Given the description of an element on the screen output the (x, y) to click on. 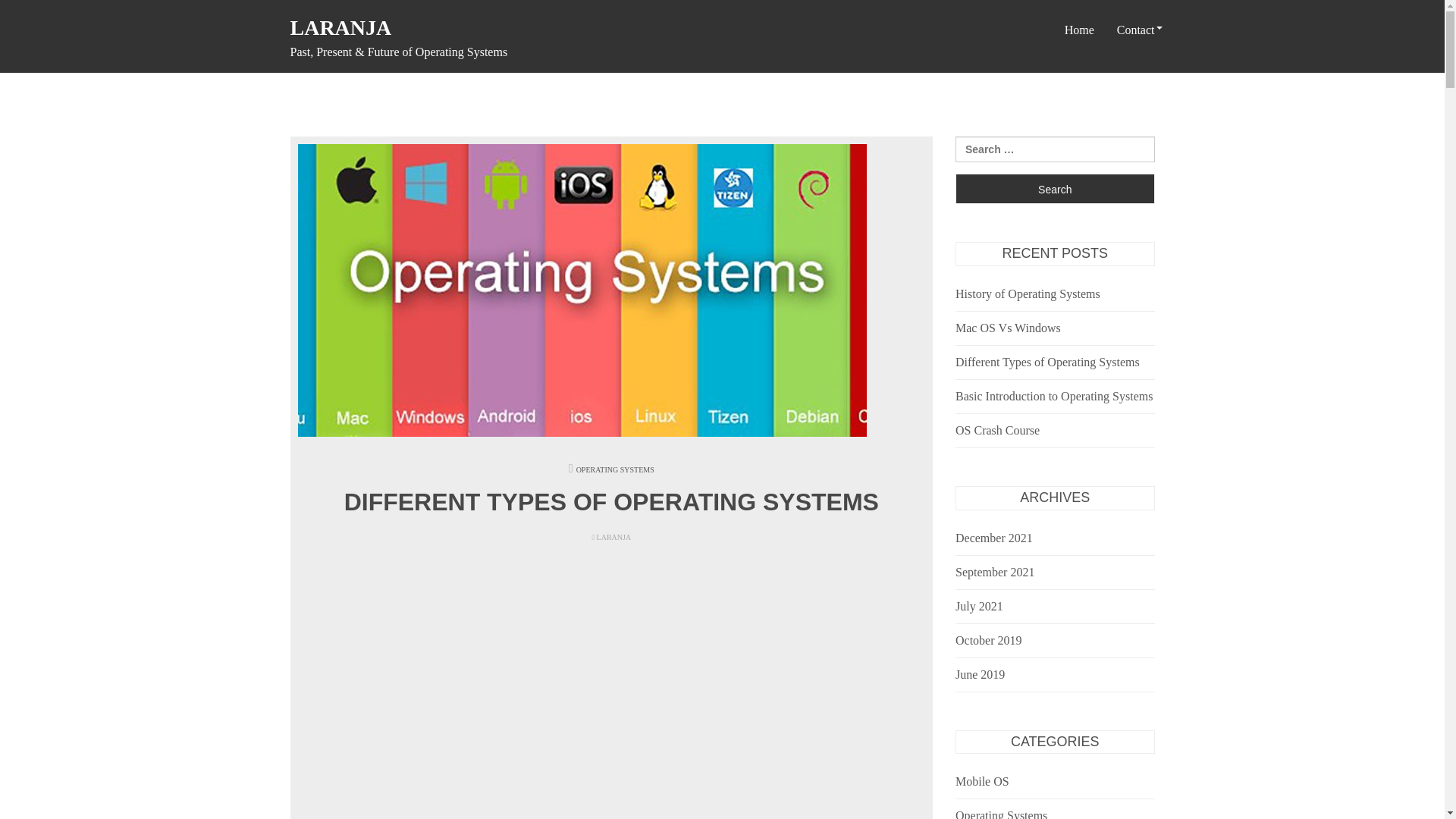
Advertising Contact (1165, 100)
Search (1054, 188)
Search (1054, 188)
LARANJA (340, 27)
Contact (1135, 30)
Search (1054, 188)
Contact (1135, 30)
Home (1078, 30)
LARANJA (611, 537)
Home (1078, 30)
Advertising Contact (1165, 100)
DIFFERENT TYPES OF OPERATING SYSTEMS (611, 501)
OPERATING SYSTEMS (614, 470)
